Given the description of an element on the screen output the (x, y) to click on. 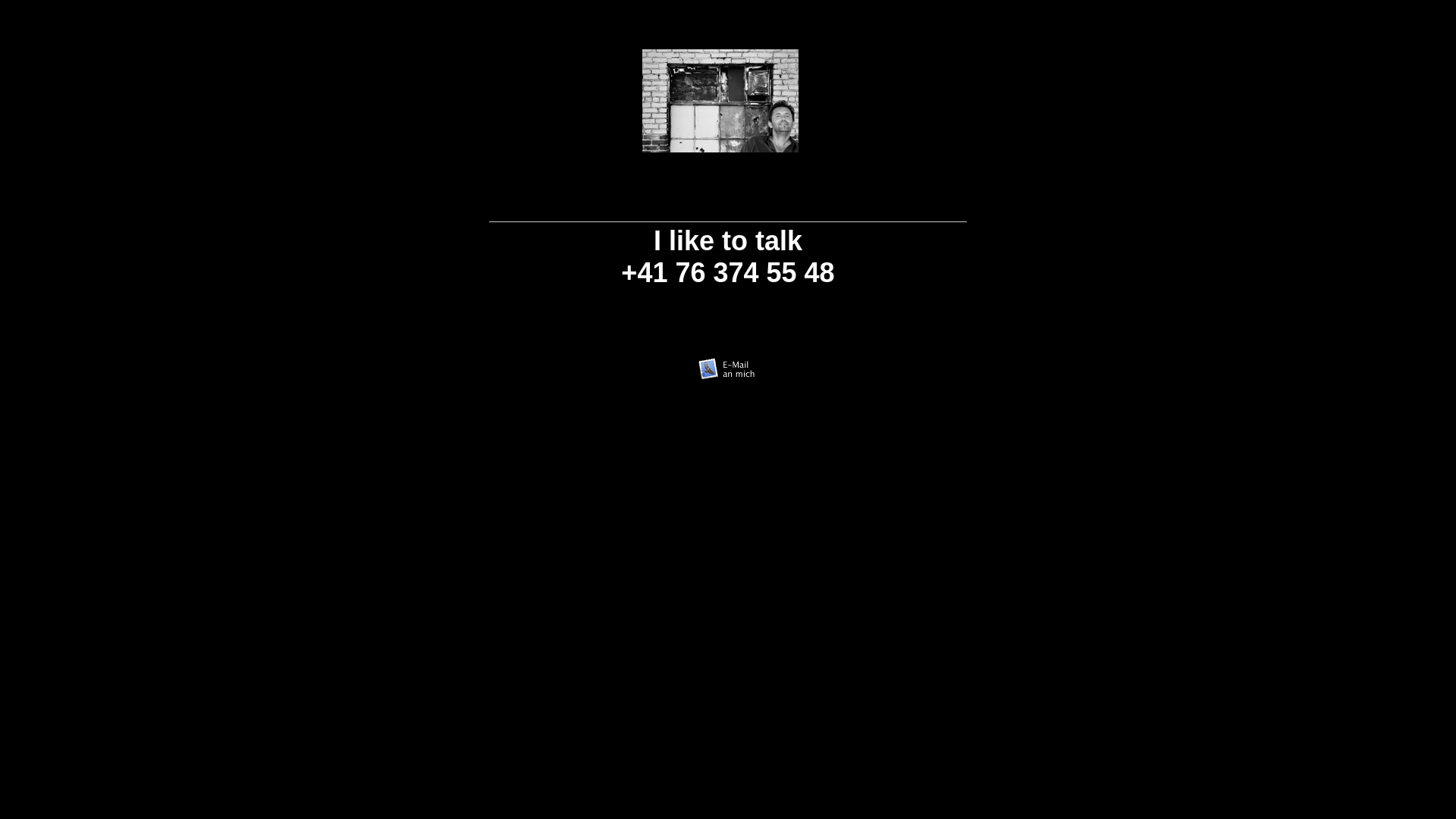
Leer Element type: text (732, 113)
